Given the description of an element on the screen output the (x, y) to click on. 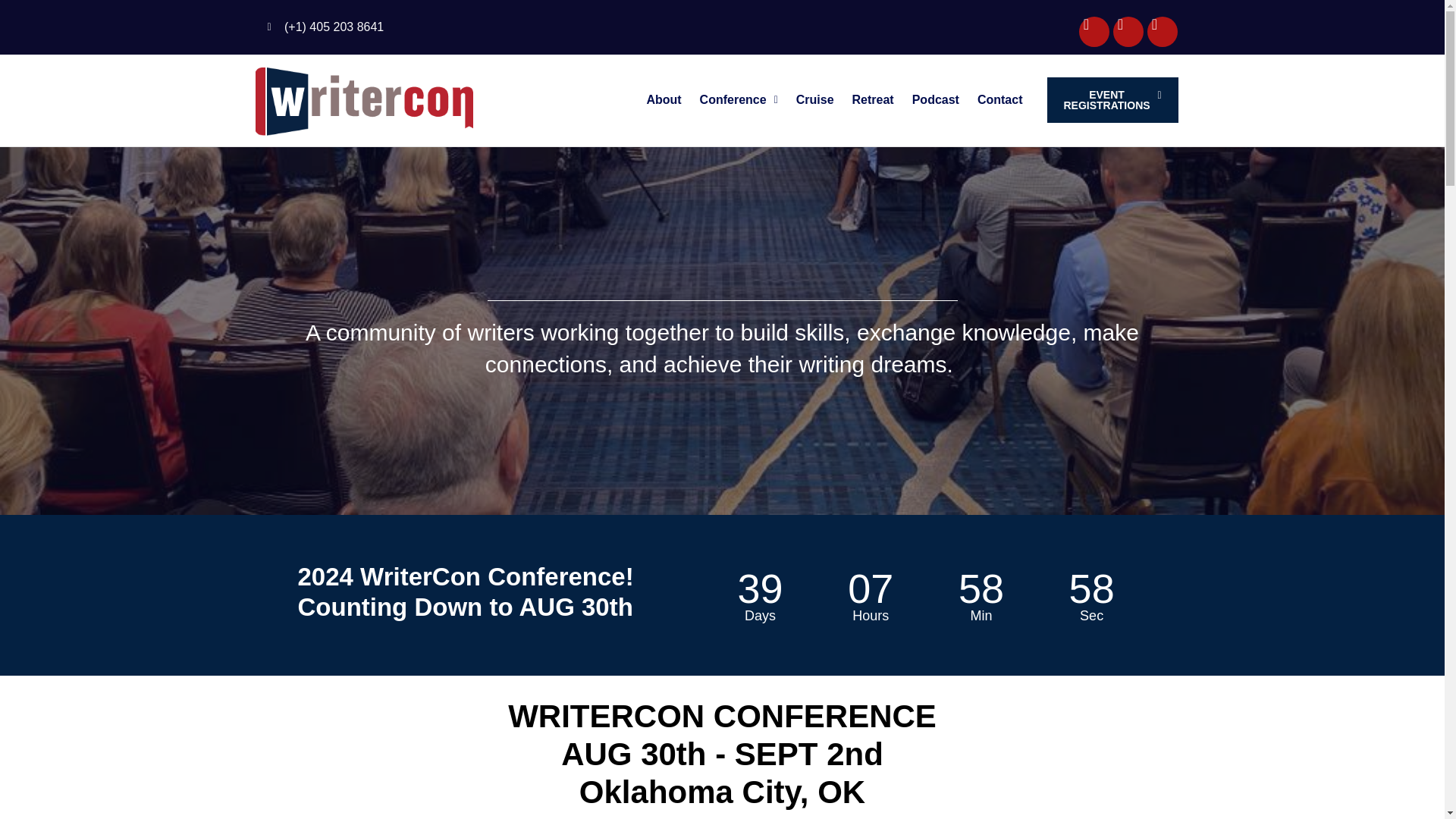
Retreat (872, 99)
EVENT REGISTRATIONS (1111, 99)
 About (662, 99)
Cruise (815, 99)
Conference (738, 99)
Podcast (935, 99)
Contact (1000, 99)
